Given the description of an element on the screen output the (x, y) to click on. 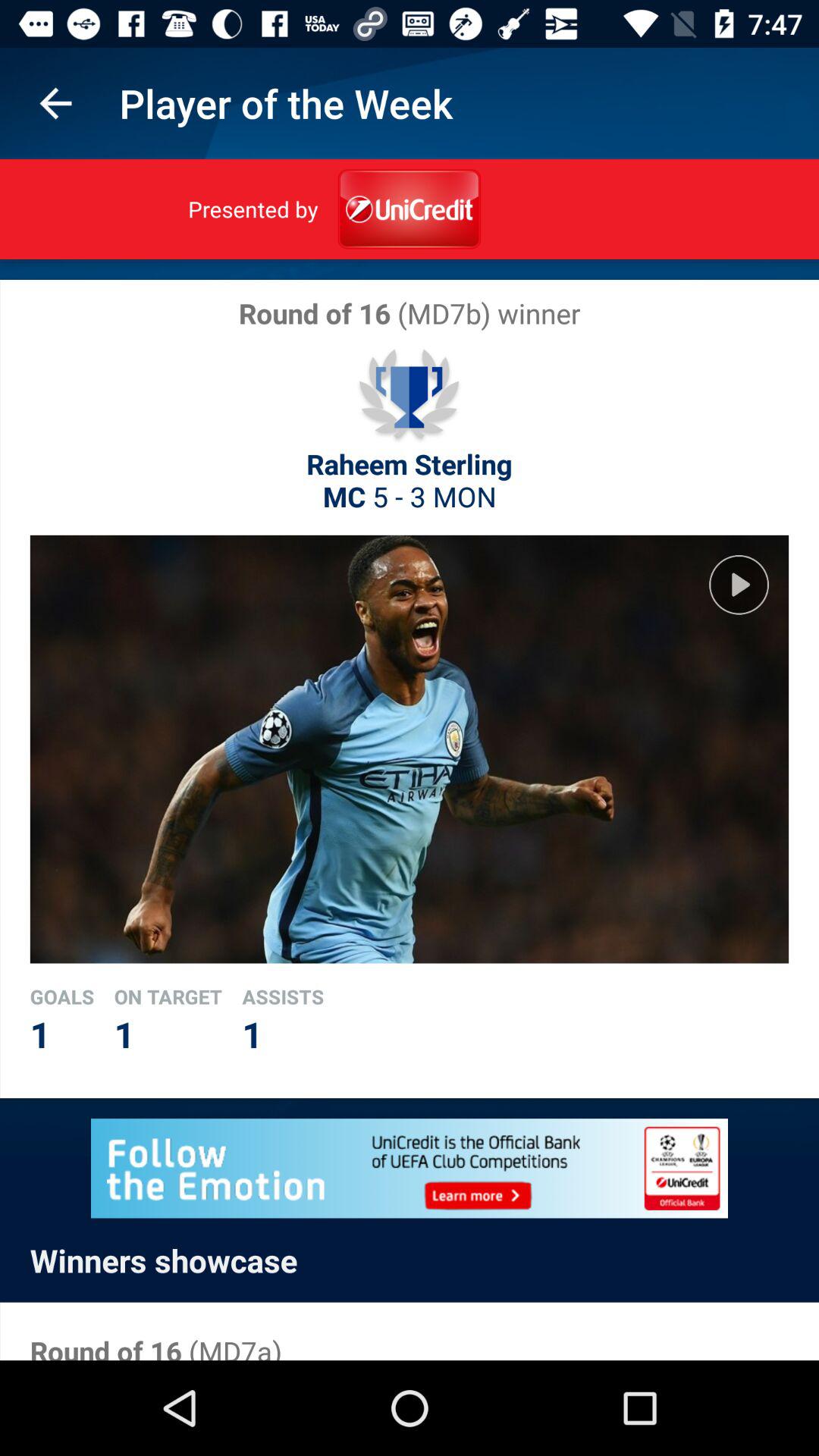
see a advertisement (409, 1168)
